Given the description of an element on the screen output the (x, y) to click on. 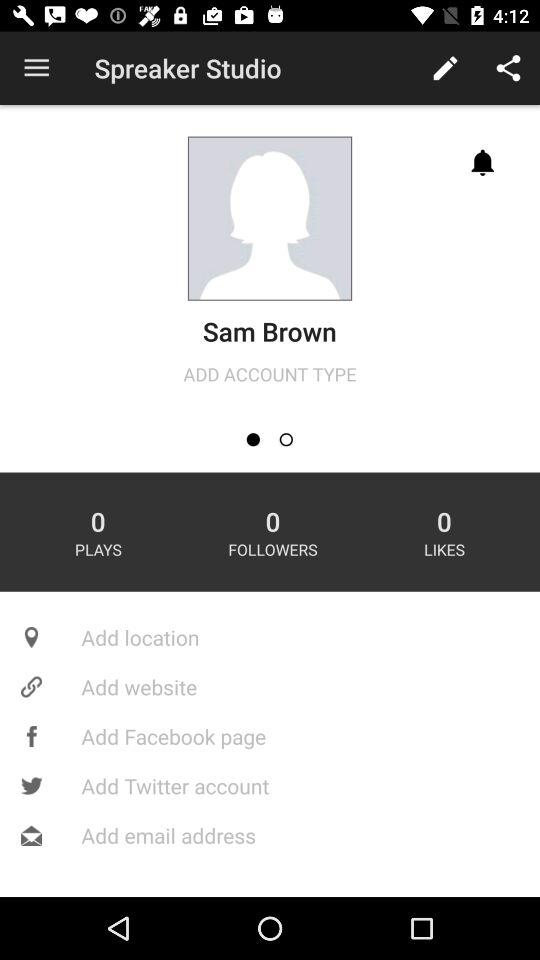
turn on the app to the right of spreaker studio item (444, 67)
